Given the description of an element on the screen output the (x, y) to click on. 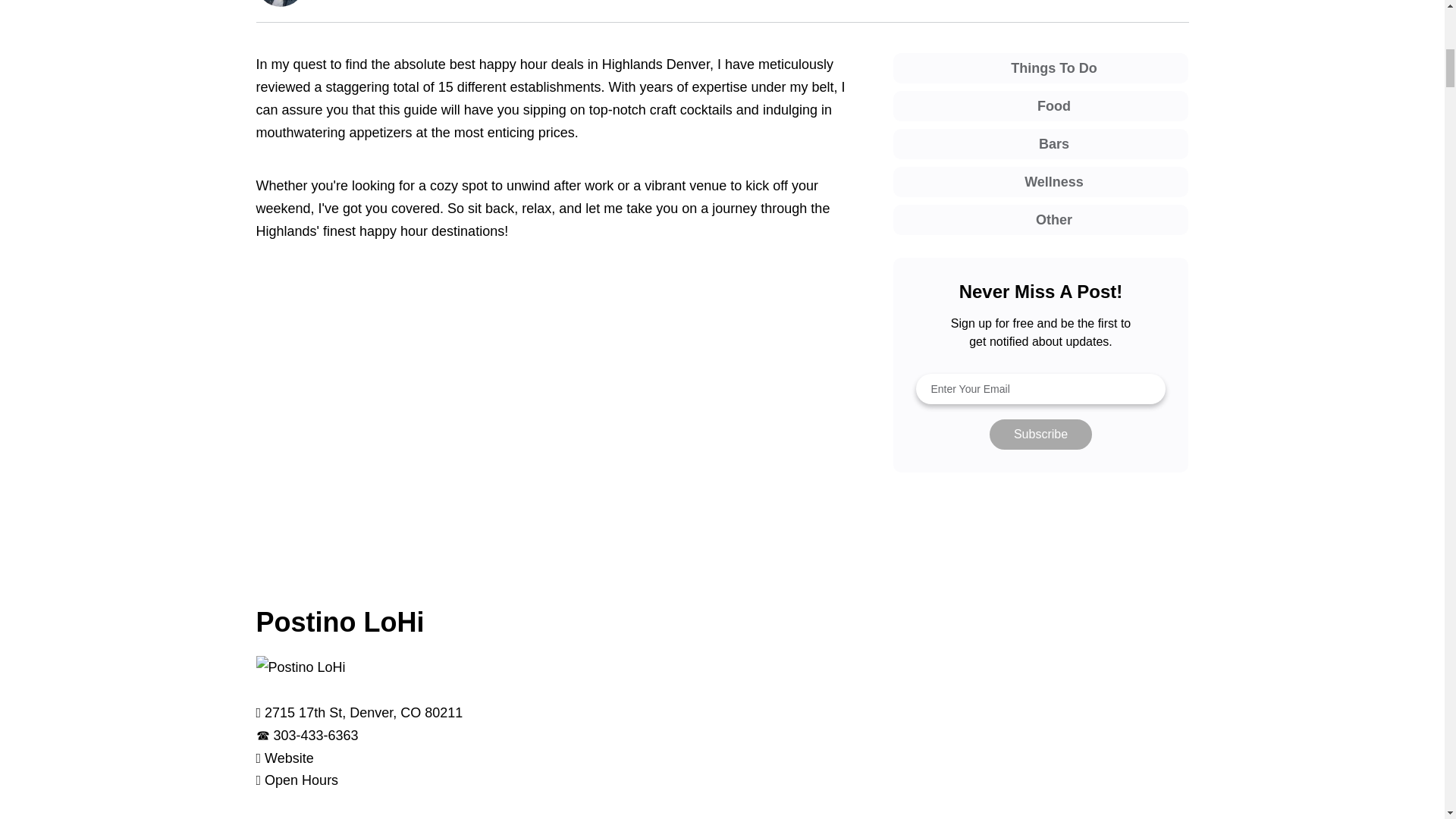
2715 17th St, Denver, CO 80211 (363, 712)
Website (289, 758)
303-433-6363 (315, 735)
